Given the description of an element on the screen output the (x, y) to click on. 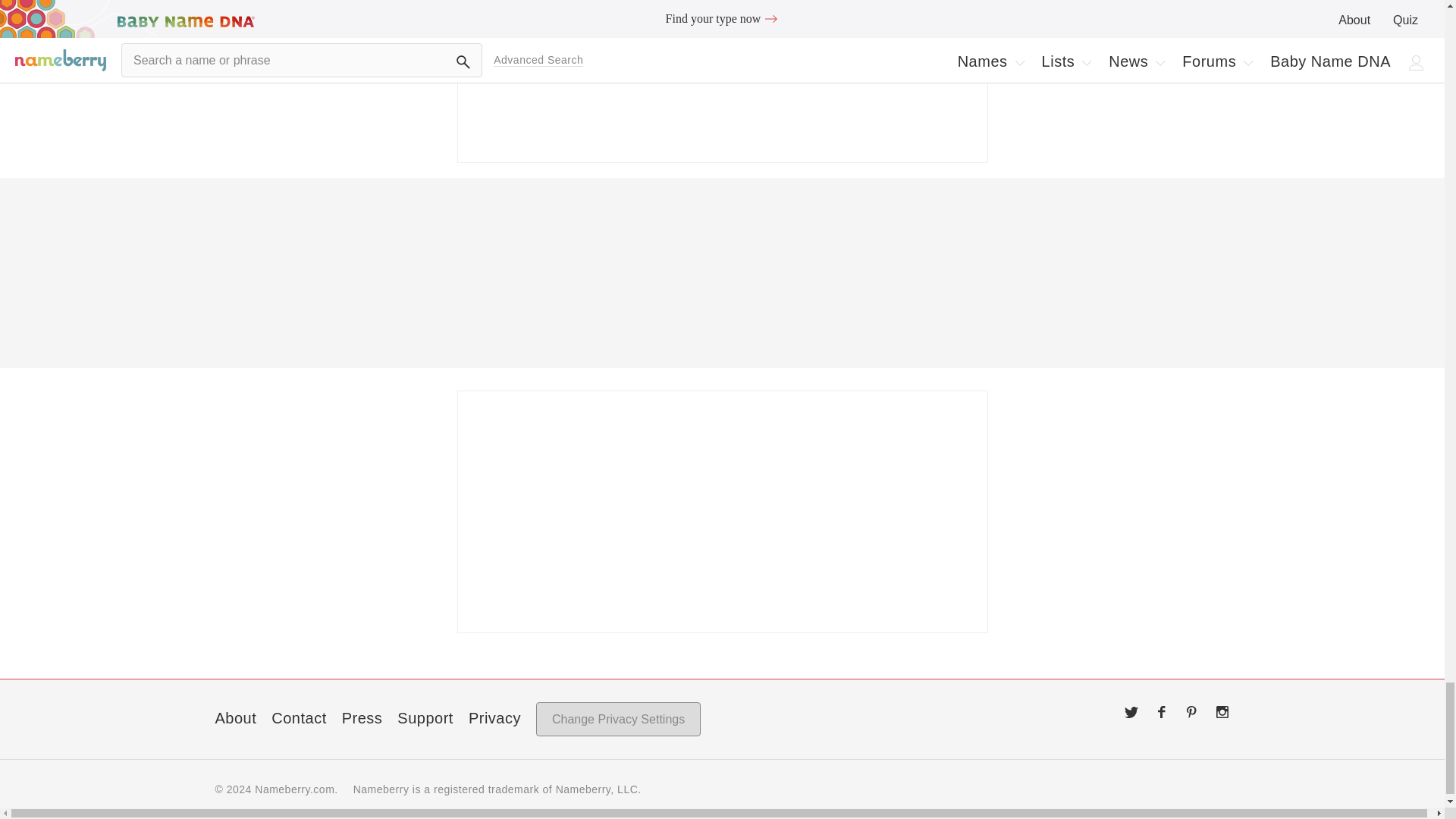
Sign up for the Nameberry Newsletter (722, 511)
Sign up for the Nameberry Newsletter (722, 81)
